Given the description of an element on the screen output the (x, y) to click on. 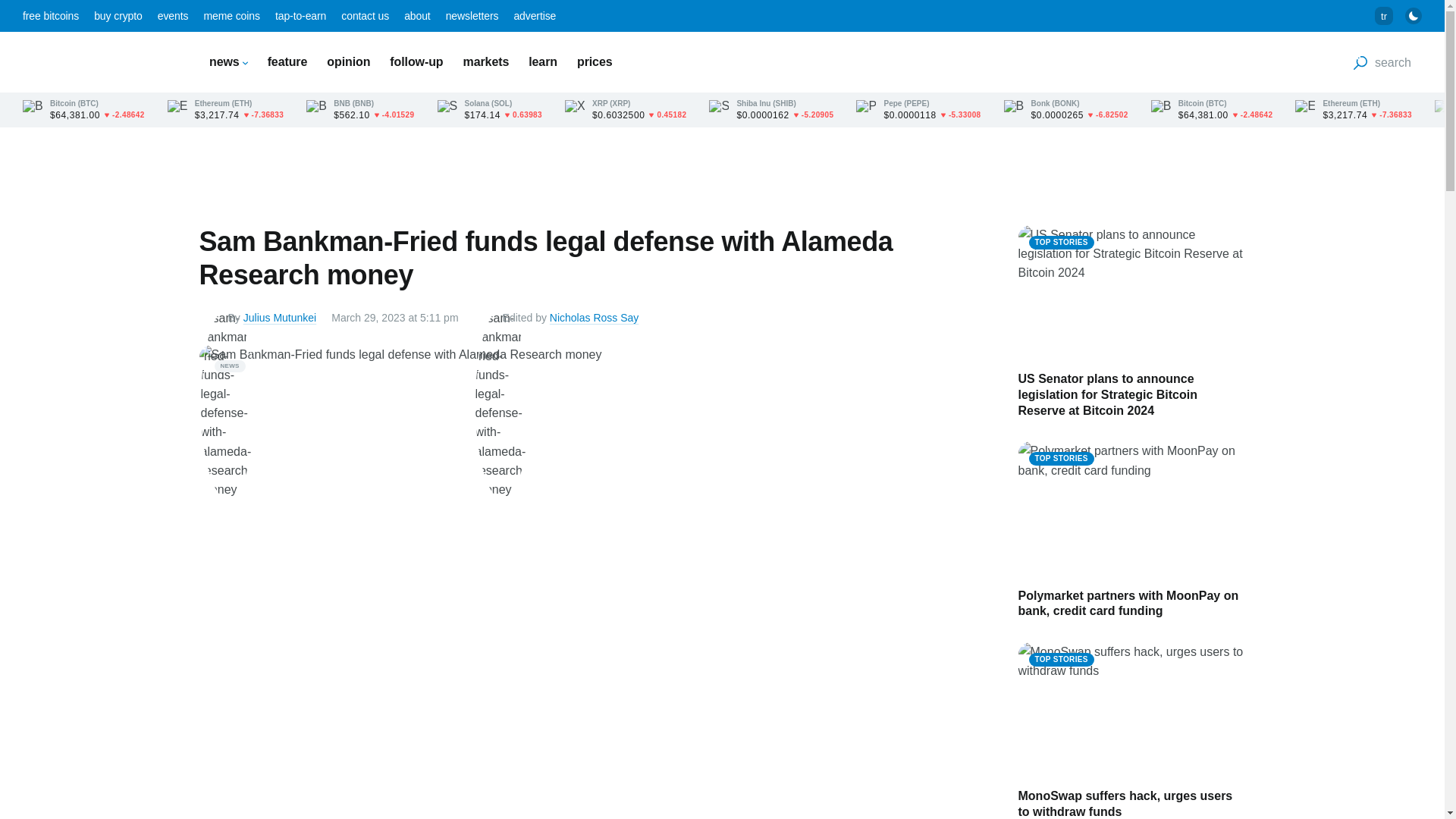
news (228, 61)
newsletters (472, 15)
Ethereum price (225, 109)
tap-to-earn (300, 15)
meme coins (231, 15)
search (1382, 61)
Solana price (488, 109)
opinion (347, 61)
Bitcoin price (83, 109)
free bitcoins (50, 15)
tr (1383, 15)
crypto.news (98, 61)
BNB price (359, 109)
learn (542, 61)
feature (287, 61)
